Given the description of an element on the screen output the (x, y) to click on. 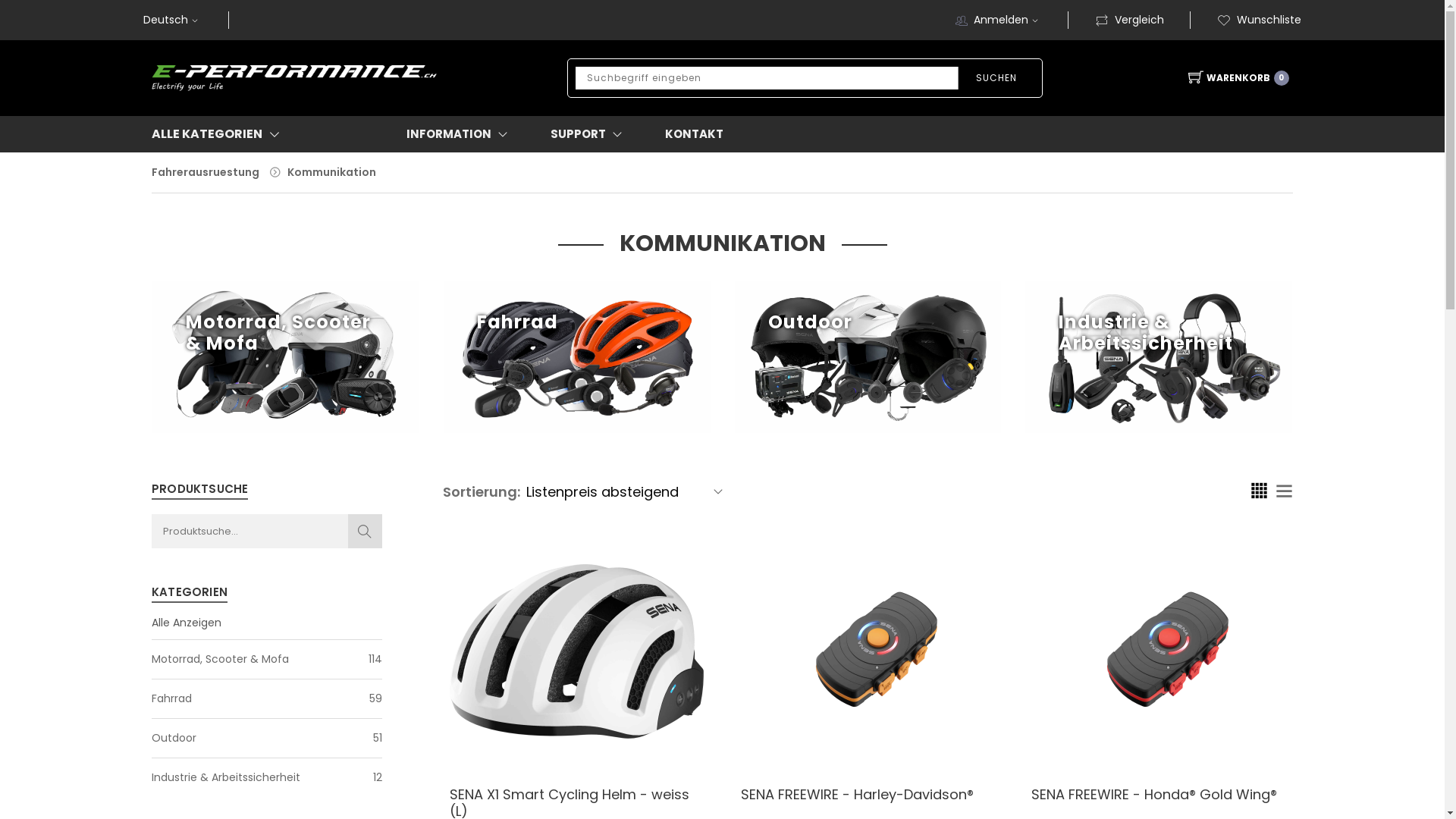
Deutsch Element type: text (172, 19)
Industrie & Arbeitssicherheit
12 Element type: text (266, 777)
Anmelden Element type: text (1034, 352)
Outdoor Element type: text (867, 357)
Fahrrad
59 Element type: text (266, 704)
ALLE KATEGORIEN Element type: text (237, 134)
Outdoor
51 Element type: text (266, 744)
Industrie & Arbeitssicherheit Element type: text (1158, 357)
WARENKORB
0 Element type: text (1232, 77)
SUPPORT Element type: text (589, 134)
Anmelden Element type: text (1007, 19)
Kommunikation Element type: text (331, 171)
Motorrad, Scooter & Mofa Element type: text (285, 357)
INFORMATION Element type: text (460, 134)
Fahrrad Element type: text (576, 357)
Motorrad, Scooter & Mofa
114 Element type: text (266, 665)
Alle Anzeigen Element type: text (186, 622)
SUCHEN Element type: text (995, 77)
Wunschliste Element type: text (1259, 19)
Fahrerausruestung Element type: text (205, 171)
KONTAKT Element type: text (694, 134)
Vergleich Element type: text (1129, 19)
